Given the description of an element on the screen output the (x, y) to click on. 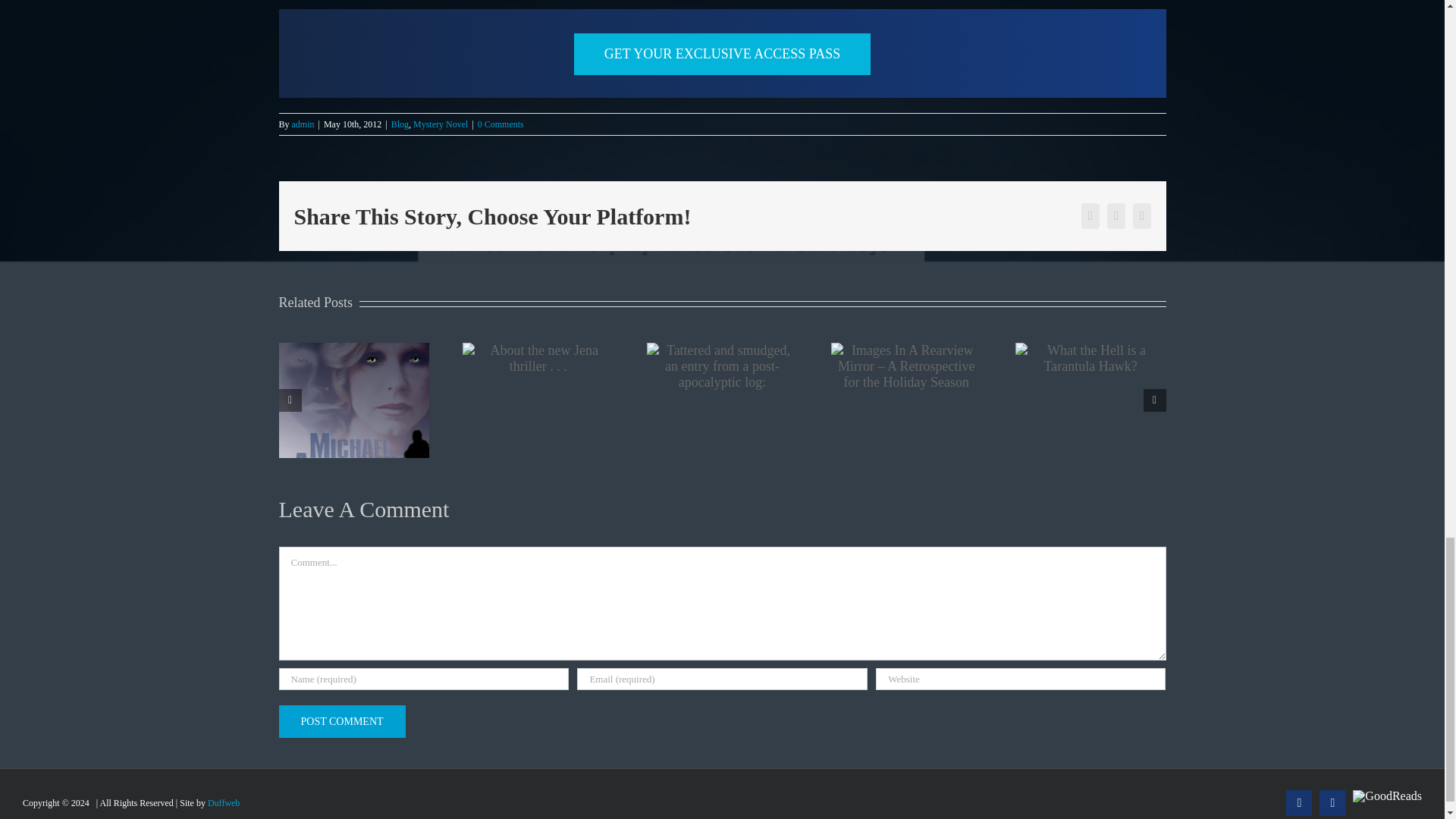
Post Comment (342, 721)
GET YOUR EXCLUSIVE ACCESS PASS (722, 53)
GET YOUR EXCLUSIVE ACCESS PASS (721, 54)
Posts by admin (303, 123)
Blog (400, 123)
Twitter (1332, 802)
admin (303, 123)
Facebook (1298, 802)
GoodReads (1387, 796)
